Given the description of an element on the screen output the (x, y) to click on. 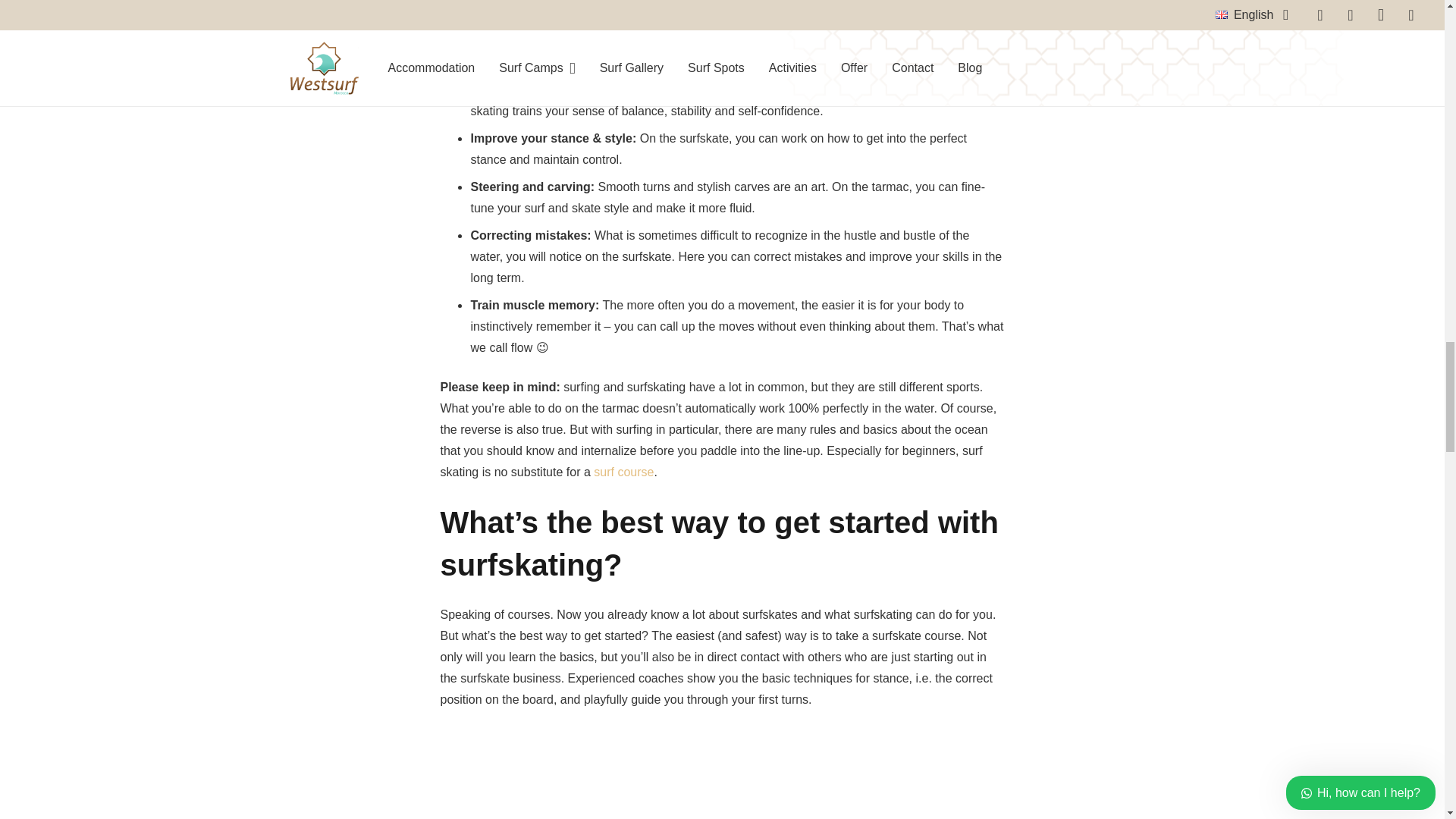
surf course (623, 472)
